Given the description of an element on the screen output the (x, y) to click on. 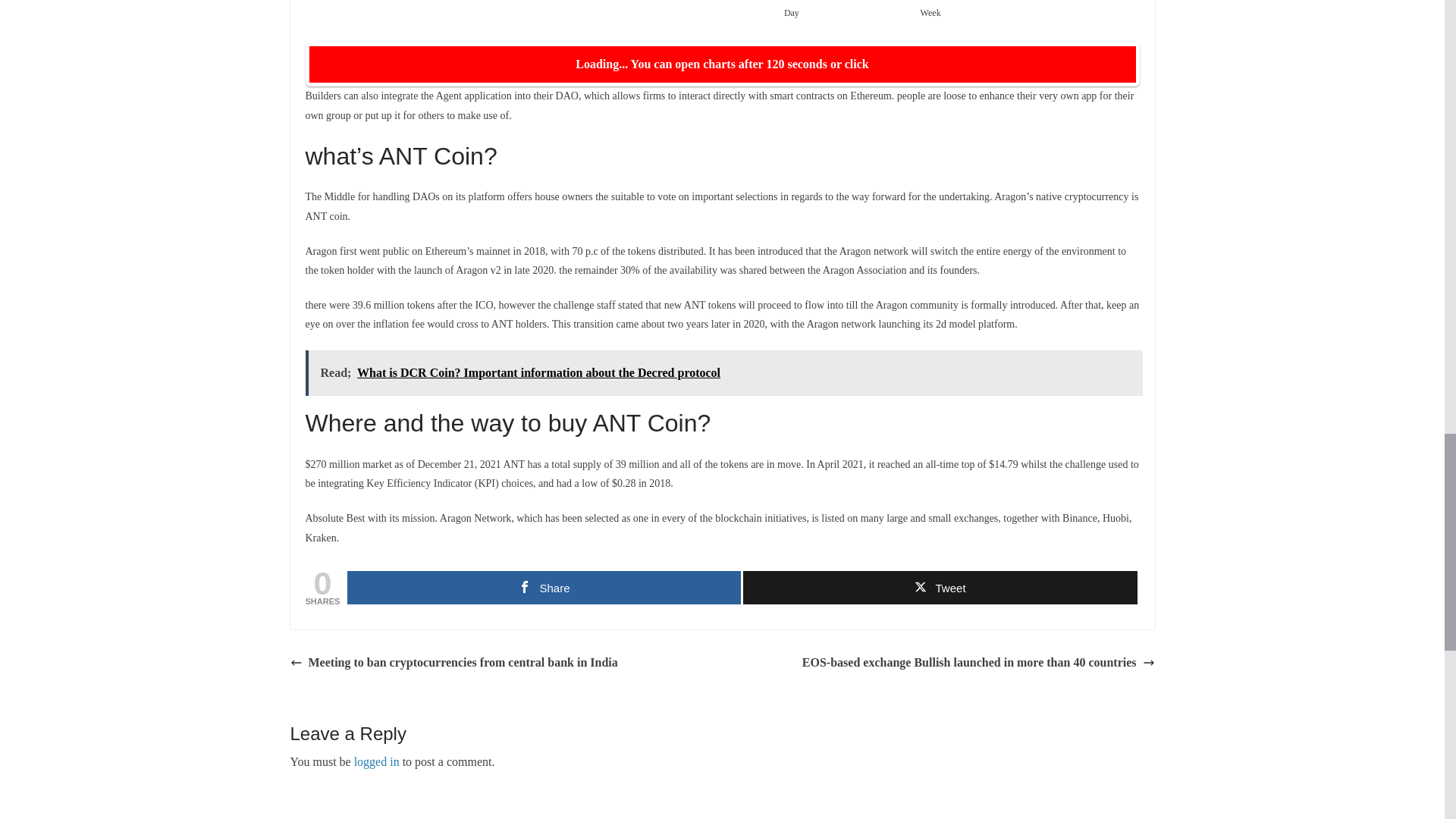
Meeting to ban cryptocurrencies from central bank in India (453, 662)
Share (544, 587)
logged in (375, 761)
Tweet (939, 587)
